Given the description of an element on the screen output the (x, y) to click on. 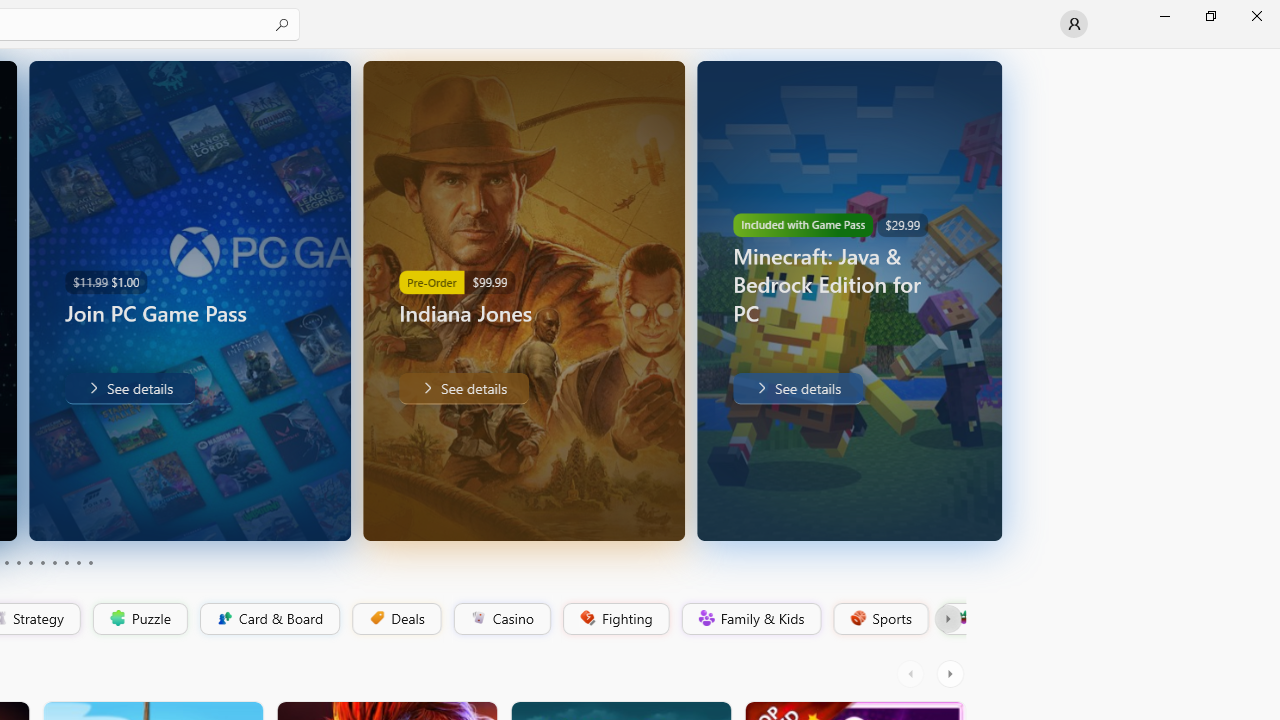
Fighting (614, 619)
Class: Image (961, 617)
Page 9 (77, 562)
Page 8 (65, 562)
Platformer (952, 619)
Page 6 (41, 562)
Puzzle (139, 619)
Page 3 (5, 562)
Deals (395, 619)
Card & Board (268, 619)
Page 7 (54, 562)
Casino (501, 619)
